Given the description of an element on the screen output the (x, y) to click on. 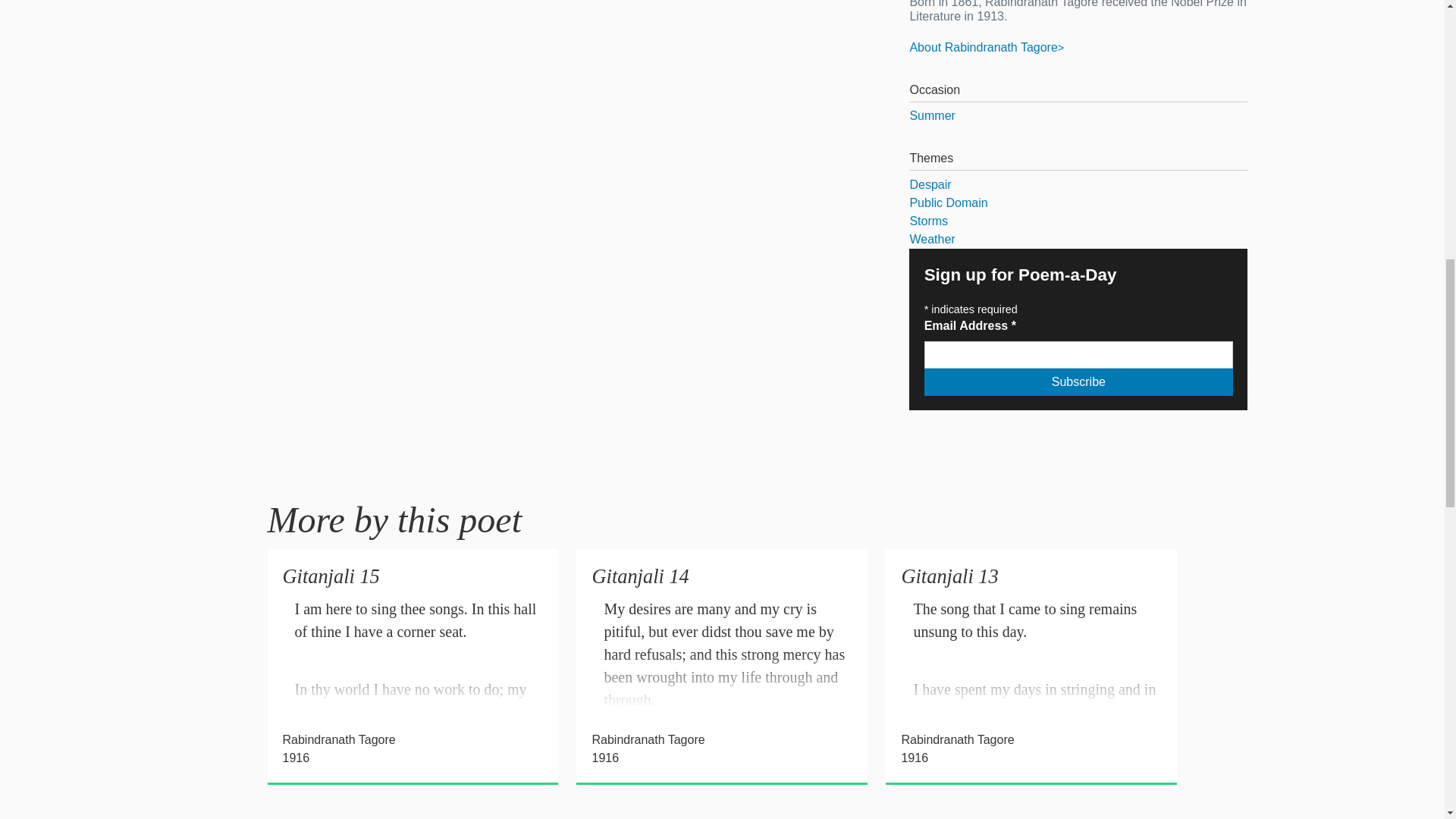
Public Domain (1077, 203)
Storms (1077, 221)
About Rabindranath Tagore (986, 47)
Despair (1077, 185)
Summer (1077, 116)
Subscribe (1078, 381)
